Given the description of an element on the screen output the (x, y) to click on. 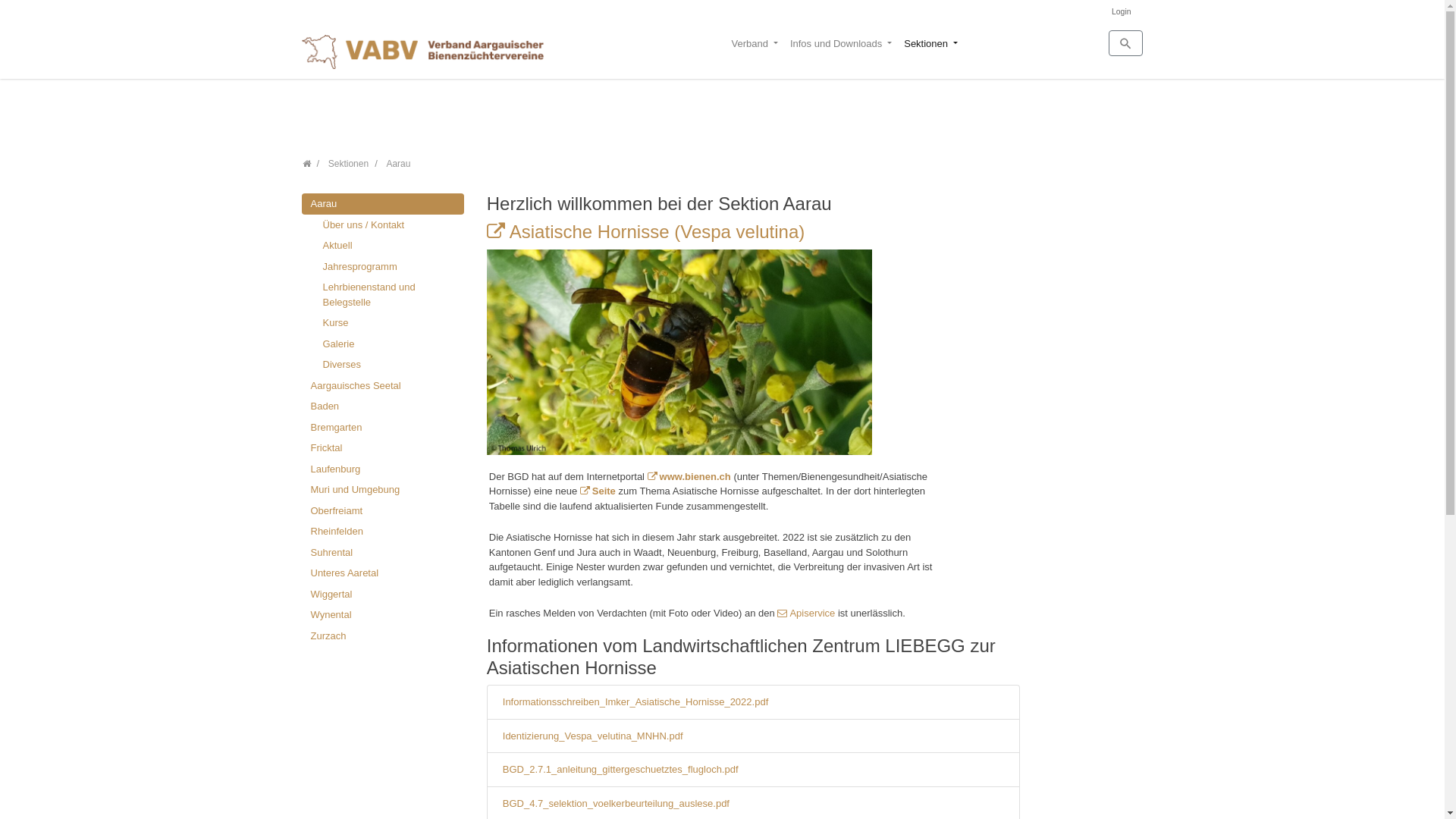
Aargauisches Seetal Element type: text (382, 385)
Aarau Element type: text (397, 163)
Aktuell Element type: text (388, 245)
Suhrental Element type: text (382, 552)
Fricktal Element type: text (382, 447)
Galerie Element type: text (388, 343)
Wiggertal Element type: text (382, 594)
Aarau Element type: text (382, 203)
Informationsschreiben_Imker_Asiatische_Hornisse_2022.pdf Element type: text (752, 701)
BGD_2.7.1_anleitung_gittergeschuetztes_flugloch.pdf Element type: text (752, 769)
Unteres Aaretal Element type: text (382, 572)
Lehrbienenstand und Belegstelle Element type: text (388, 294)
Oberfreiamt Element type: text (382, 510)
Identizierung_Vespa_velutina_MNHN.pdf Element type: text (752, 735)
Apiservice Element type: text (805, 612)
Zurzach Element type: text (382, 635)
www.bienen.ch Element type: text (689, 476)
Seite Element type: text (597, 490)
Asiatische Hornisse (Vespa velutina) Element type: text (645, 231)
Wynental Element type: text (382, 614)
Diverses Element type: text (388, 364)
Sektionen Element type: text (930, 43)
Laufenburg Element type: text (382, 469)
Sektionen Element type: text (348, 163)
Baden Element type: text (382, 406)
Kurse Element type: text (388, 322)
Muri und Umgebung Element type: text (382, 489)
Verband Element type: text (754, 43)
Bremgarten Element type: text (382, 427)
Jahresprogramm Element type: text (388, 266)
Login Element type: text (1120, 12)
Infos und Downloads Element type: text (840, 43)
Rheinfelden Element type: text (382, 531)
